Given the description of an element on the screen output the (x, y) to click on. 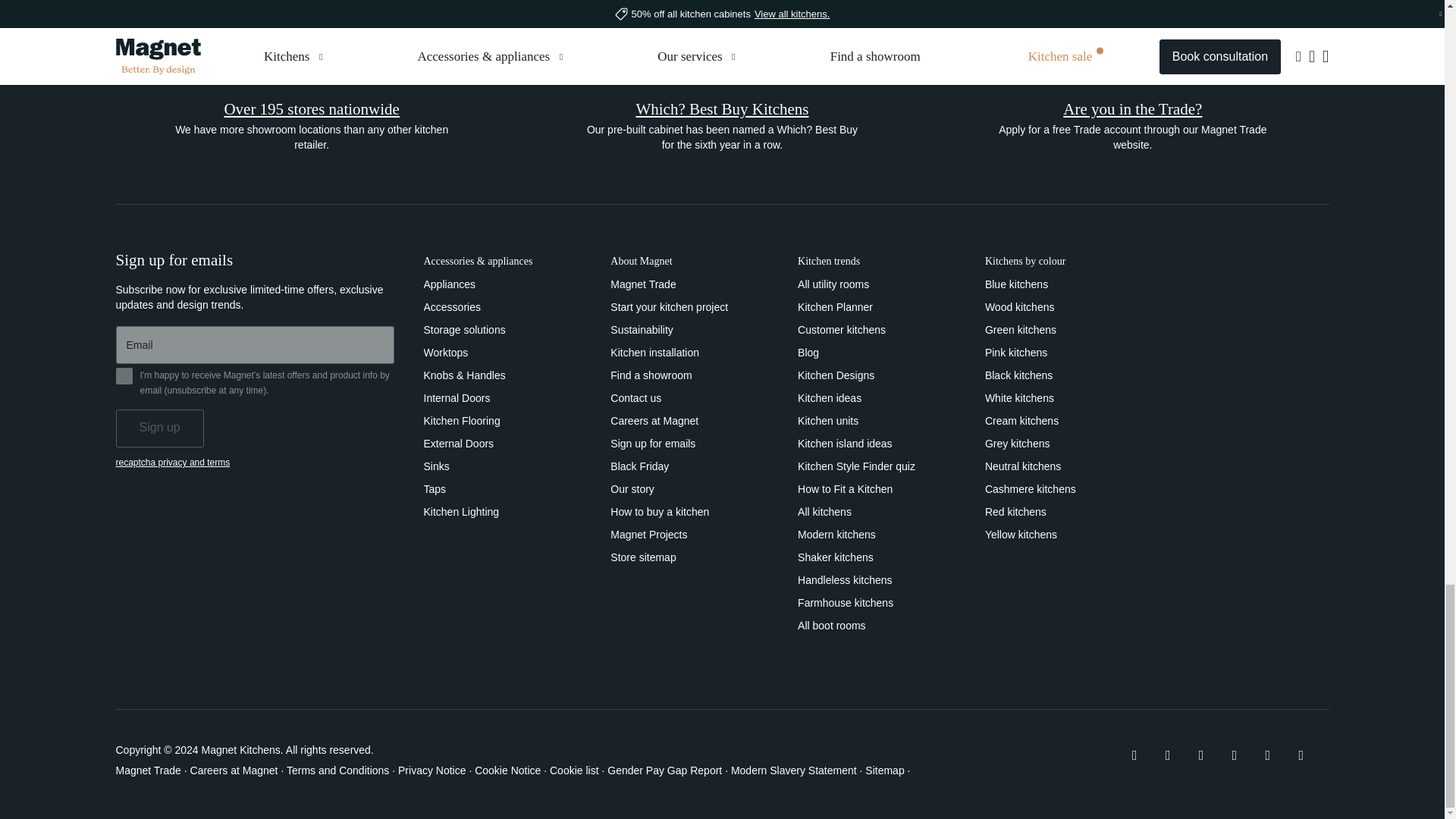
Store sitemap (642, 557)
